Given the description of an element on the screen output the (x, y) to click on. 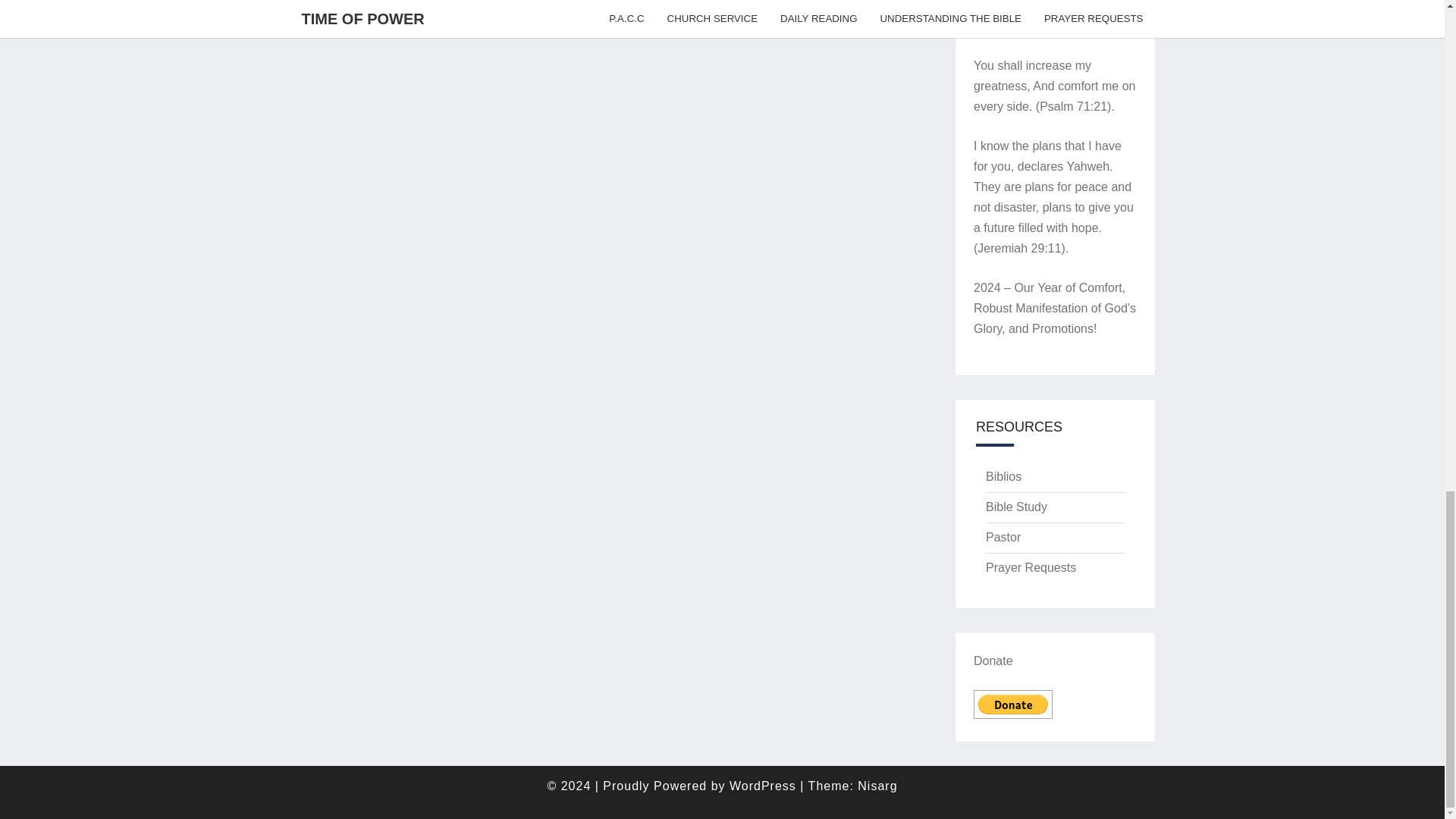
Nisarg (876, 785)
Bible Study (1015, 506)
Biblios (1003, 476)
Prayer Requests (1030, 567)
WordPress (762, 785)
Pastor (1002, 536)
